Given the description of an element on the screen output the (x, y) to click on. 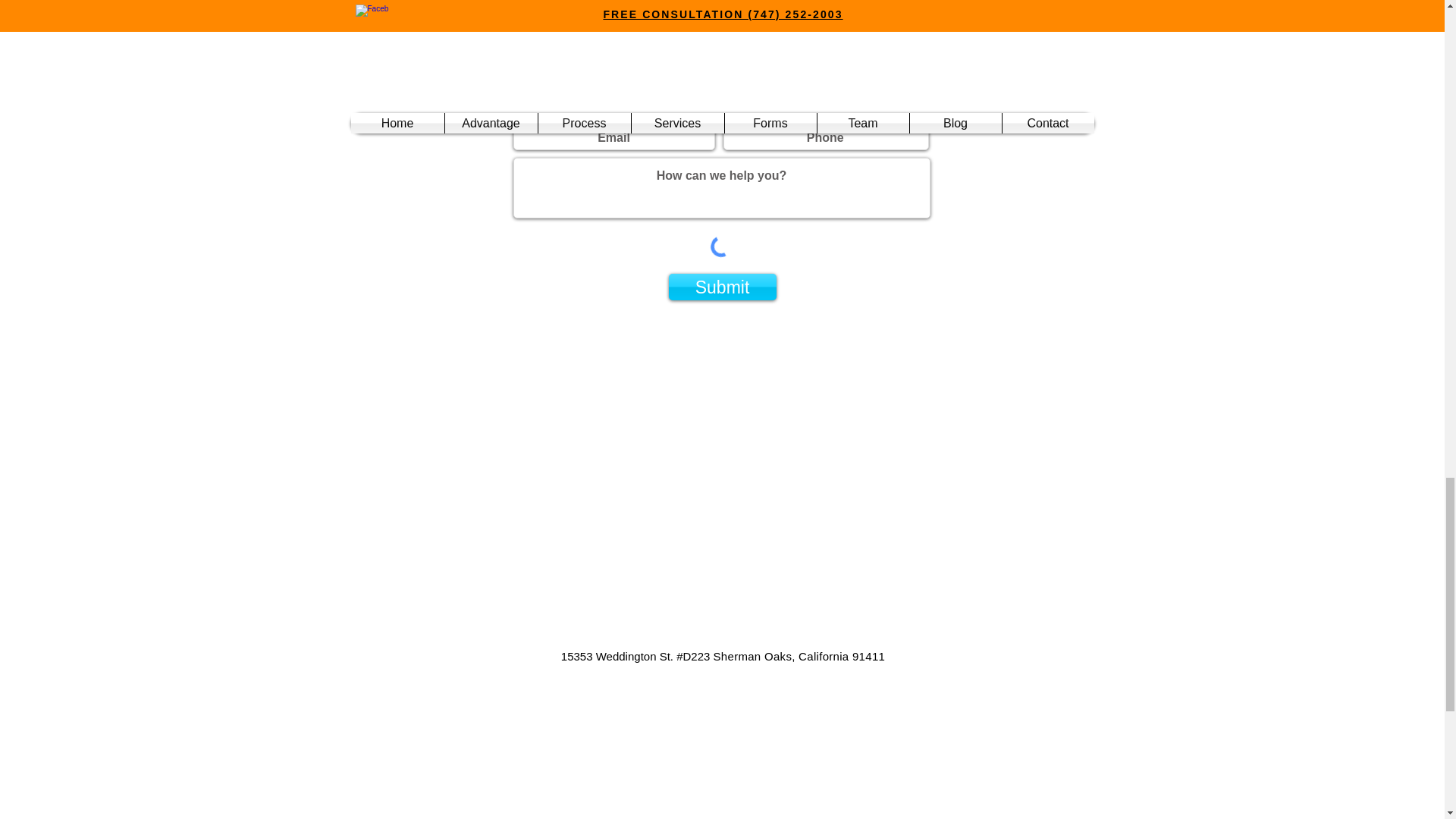
Submit (722, 286)
